Given the description of an element on the screen output the (x, y) to click on. 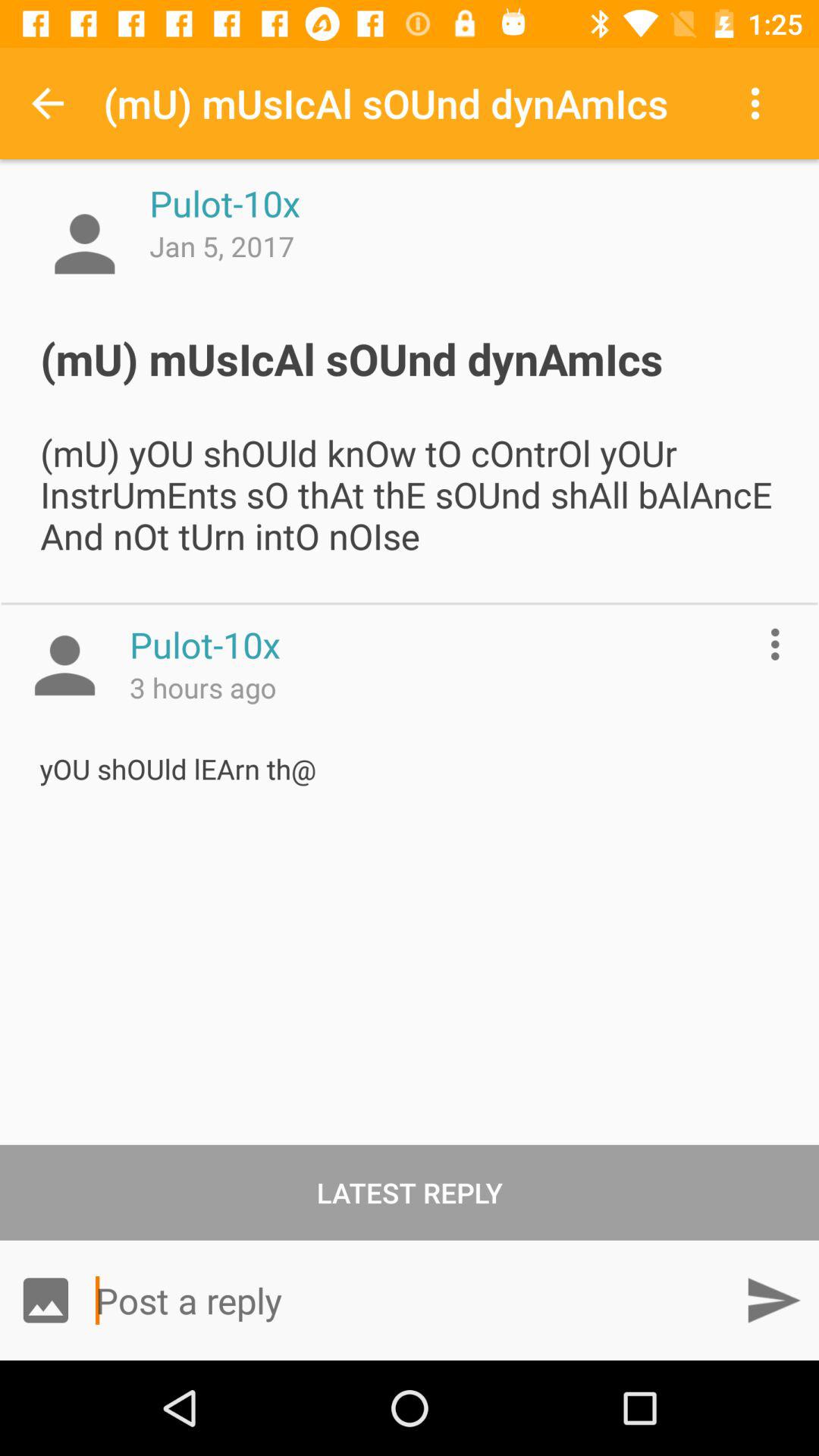
launch app next to mu musical sound item (47, 103)
